Given the description of an element on the screen output the (x, y) to click on. 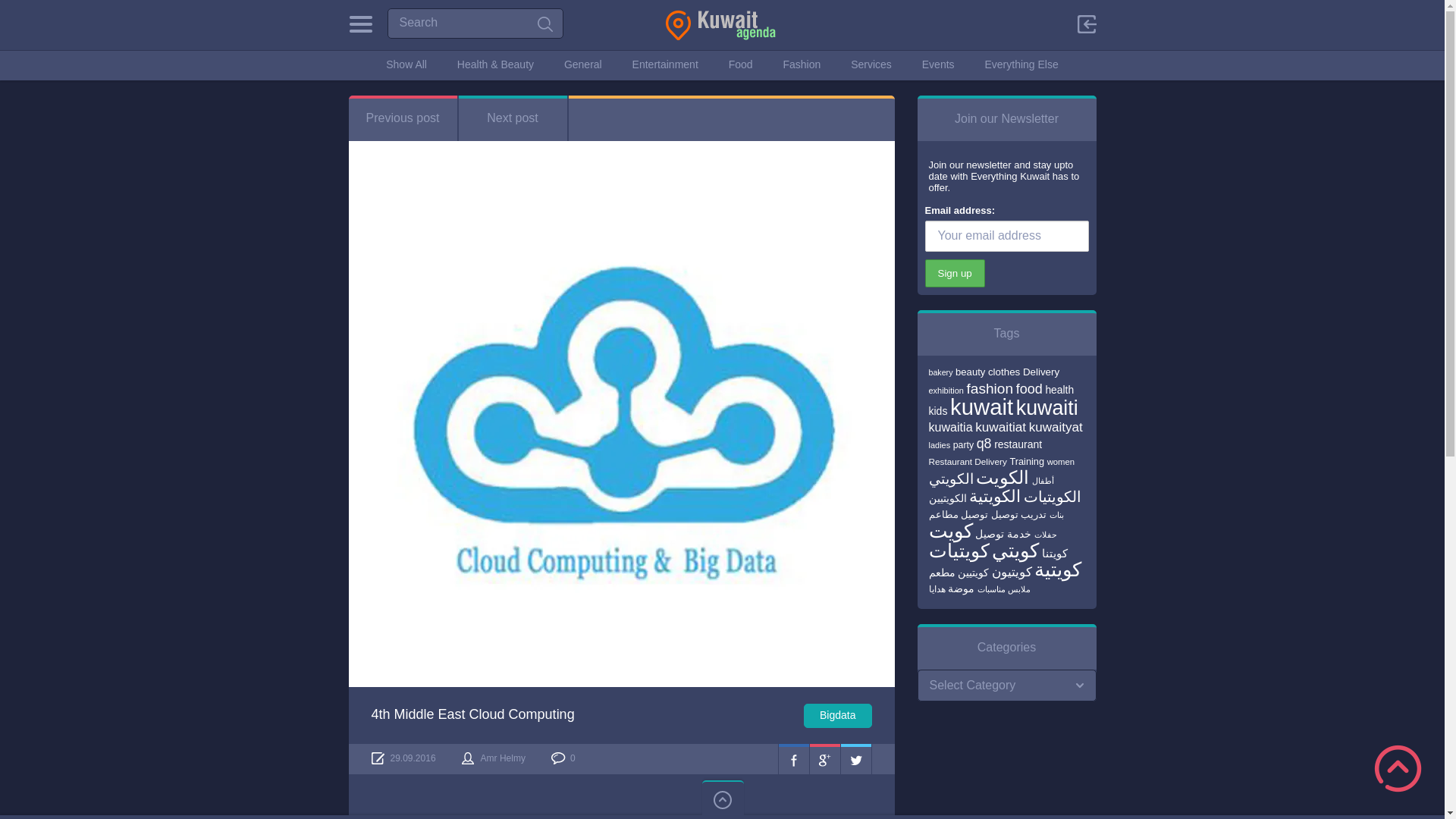
Previous post (403, 117)
Everything Else (1021, 64)
Sign In (1086, 24)
Scroll to Top (1398, 768)
Share on Twitter (855, 758)
Search (544, 23)
Categories (360, 23)
Share on Facebook (792, 758)
Services (870, 64)
Show All (405, 64)
Login (1052, 161)
Next post (512, 117)
4th Middle East Cloud Computing (473, 713)
Events (938, 64)
Search (474, 23)
